Given the description of an element on the screen output the (x, y) to click on. 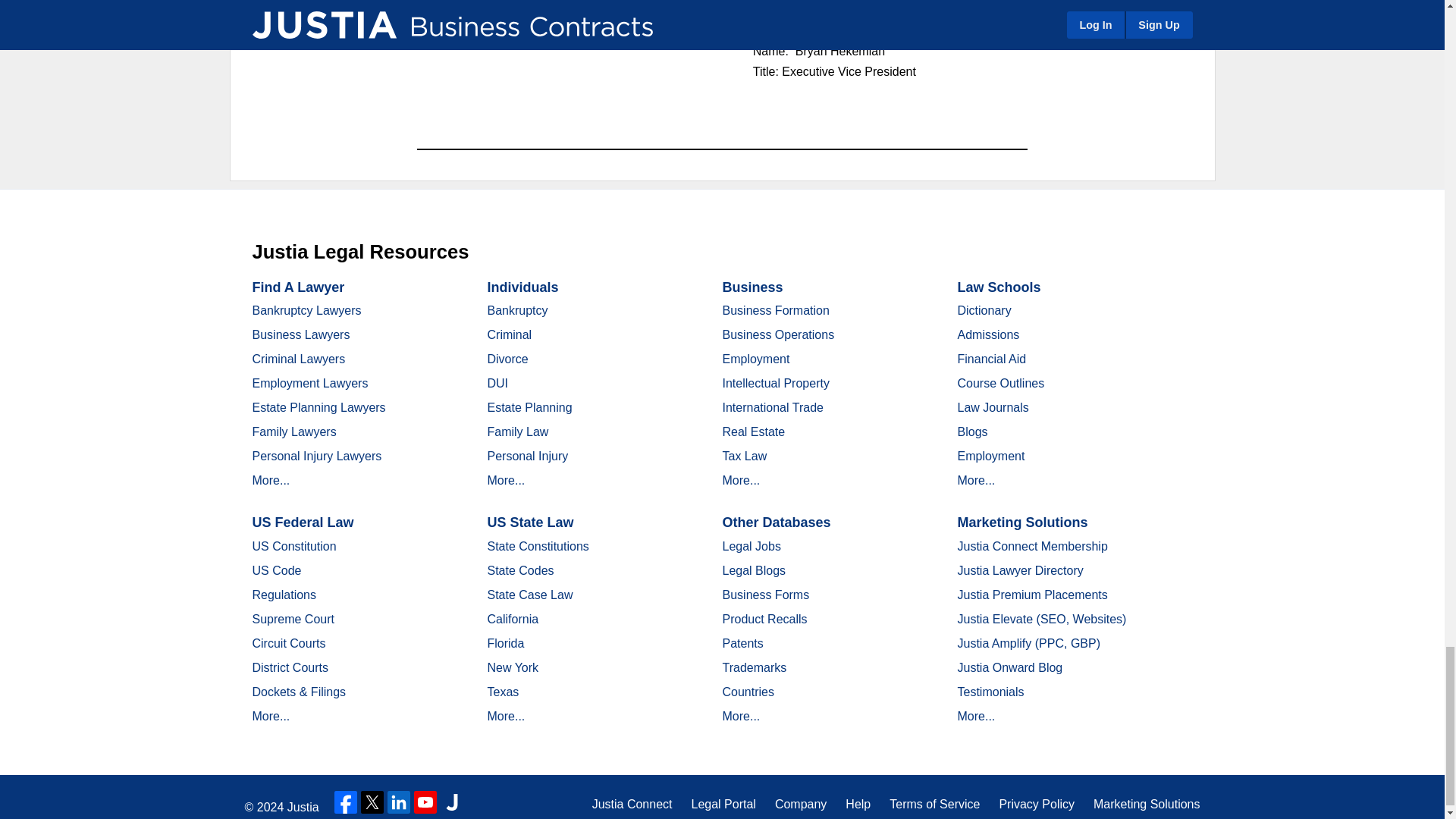
Bankruptcy Lawyers (306, 309)
Estate Planning Lawyers (318, 407)
LinkedIn (398, 802)
Facebook (345, 802)
Find A Lawyer (297, 287)
Personal Injury Lawyers (316, 455)
Justia Lawyer Directory (452, 802)
Business Lawyers (300, 334)
Family Lawyers (293, 431)
Twitter (372, 802)
More... (270, 480)
Employment Lawyers (309, 382)
YouTube (424, 802)
Criminal Lawyers (298, 358)
